Given the description of an element on the screen output the (x, y) to click on. 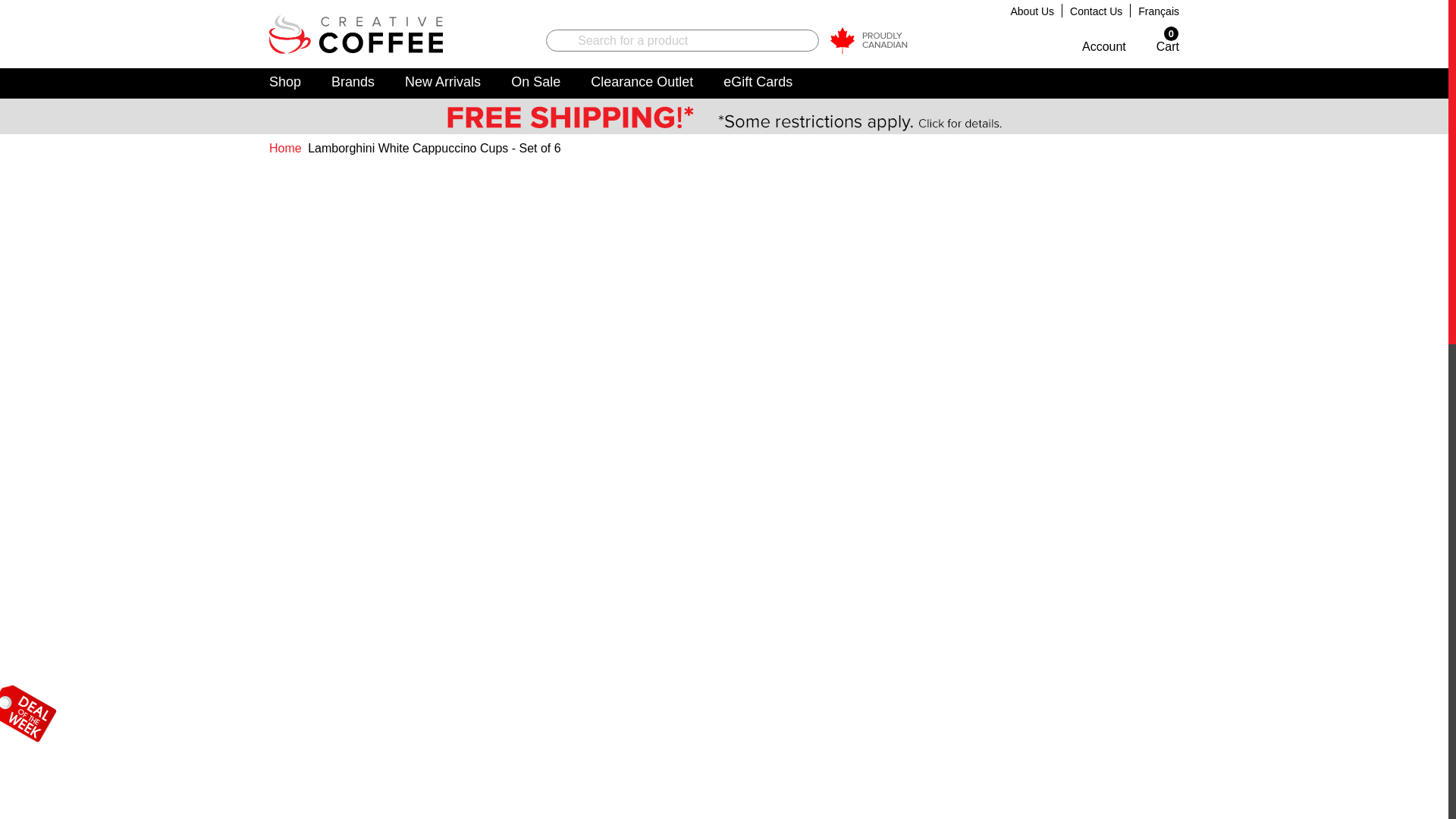
Account (1099, 44)
About Us (1032, 10)
Shop (285, 82)
Contact Us (1096, 10)
